Given the description of an element on the screen output the (x, y) to click on. 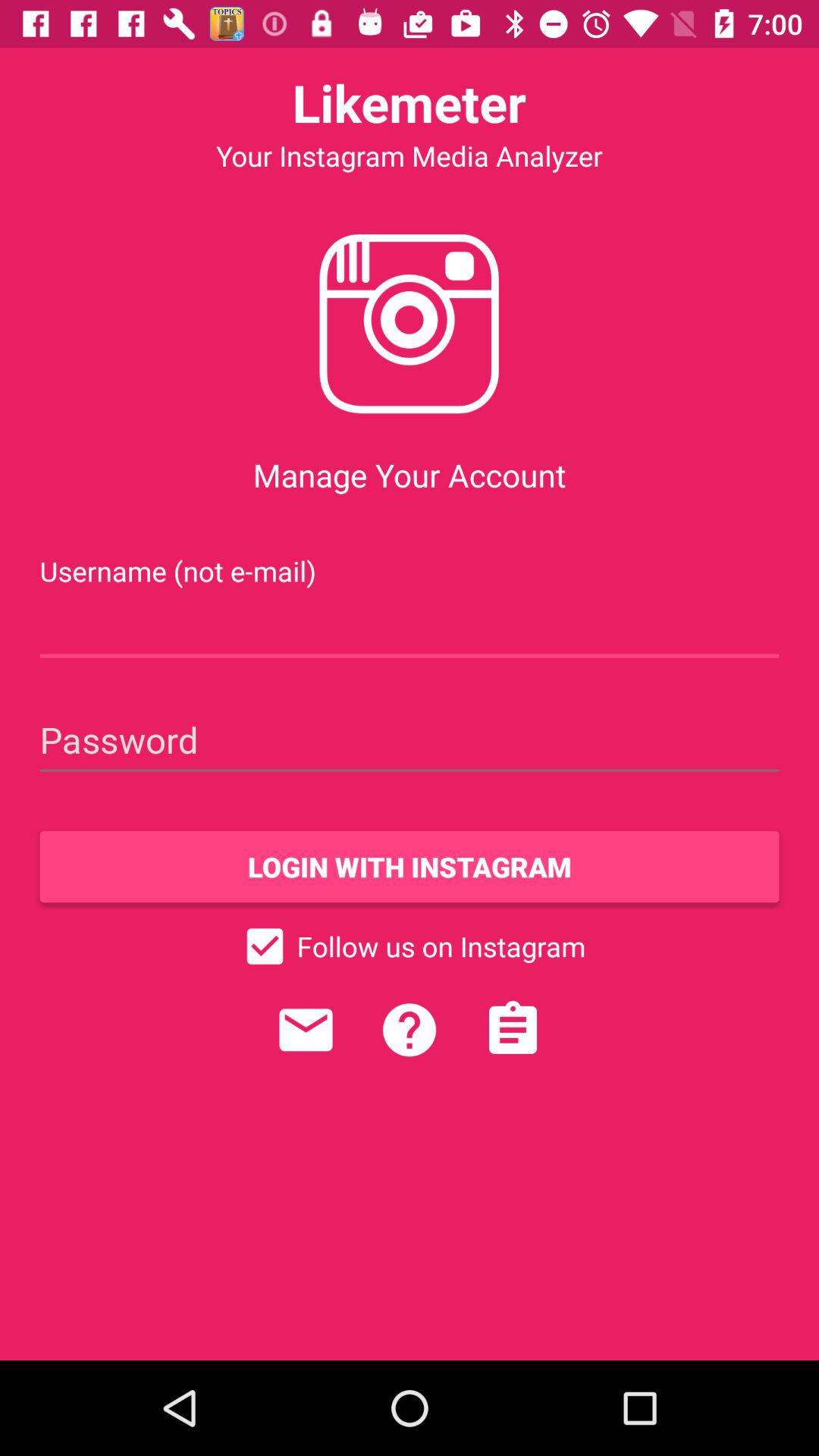
turn on icon below follow us on item (409, 1029)
